Given the description of an element on the screen output the (x, y) to click on. 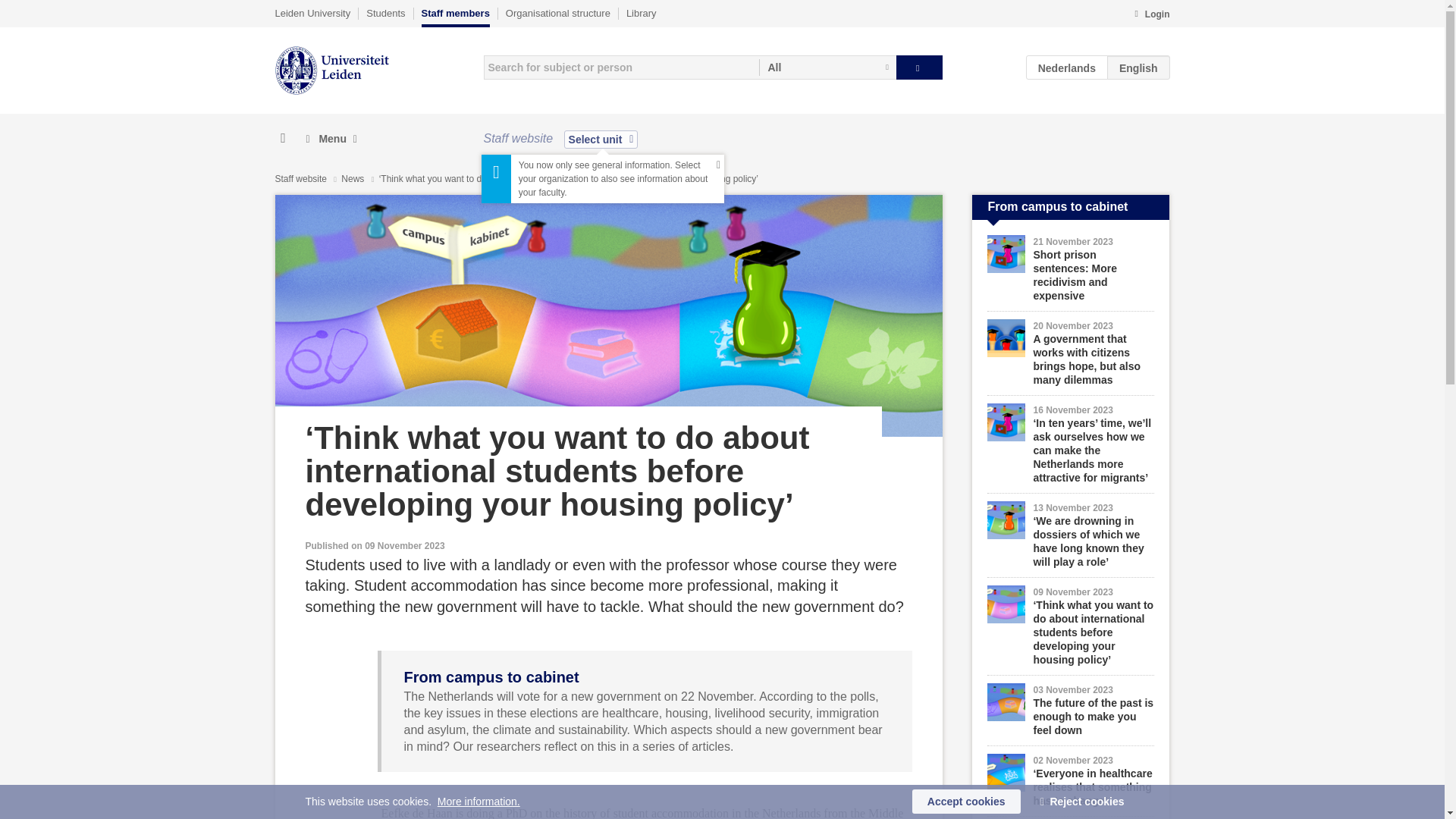
Staff members (455, 17)
All (827, 67)
NL (1067, 67)
Students (385, 13)
Library (641, 13)
Select unit (601, 139)
Search (919, 67)
Organisational structure (557, 13)
Login (1151, 14)
Menu (330, 139)
